Given the description of an element on the screen output the (x, y) to click on. 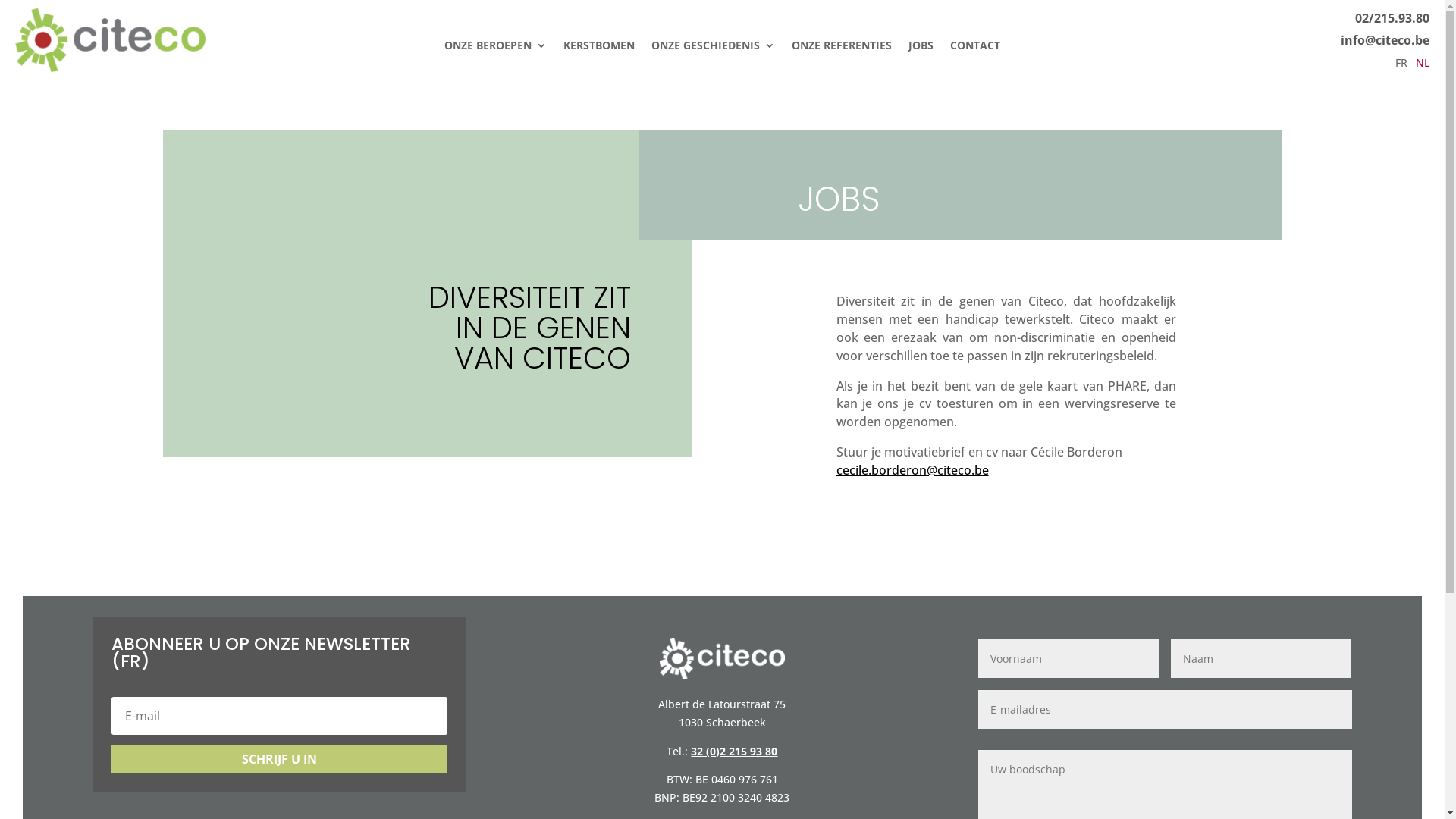
ONZE REFERENTIES Element type: text (841, 48)
info@citeco.be Element type: text (1384, 39)
ONZE GESCHIEDENIS Element type: text (713, 48)
JOBS Element type: text (920, 48)
NL Element type: text (1422, 65)
CONTACT Element type: text (975, 48)
02/215.93.80 Element type: text (1392, 17)
ONZE BEROEPEN Element type: text (495, 48)
SCHRIJF U IN Element type: text (279, 759)
32 (0)2 215 93 80 Element type: text (733, 750)
Skip to content Element type: text (0, 0)
FR Element type: text (1401, 65)
cecile.borderon@citeco.be Element type: text (912, 469)
KERSTBOMEN Element type: text (598, 48)
